Given the description of an element on the screen output the (x, y) to click on. 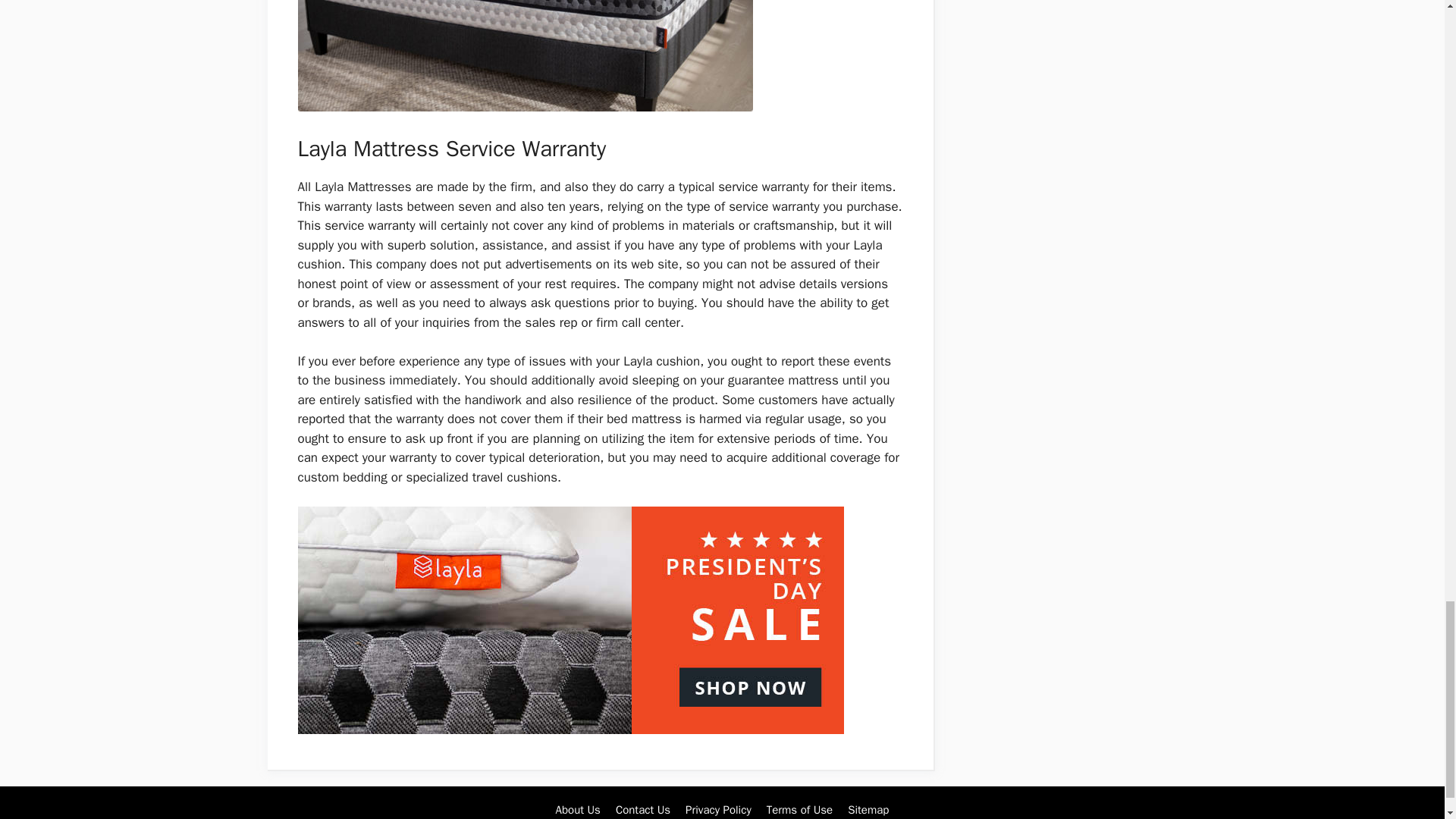
About Us (577, 809)
Privacy Policy (718, 809)
Sitemap (867, 809)
Contact Us (642, 809)
Terms of Use (799, 809)
